Given the description of an element on the screen output the (x, y) to click on. 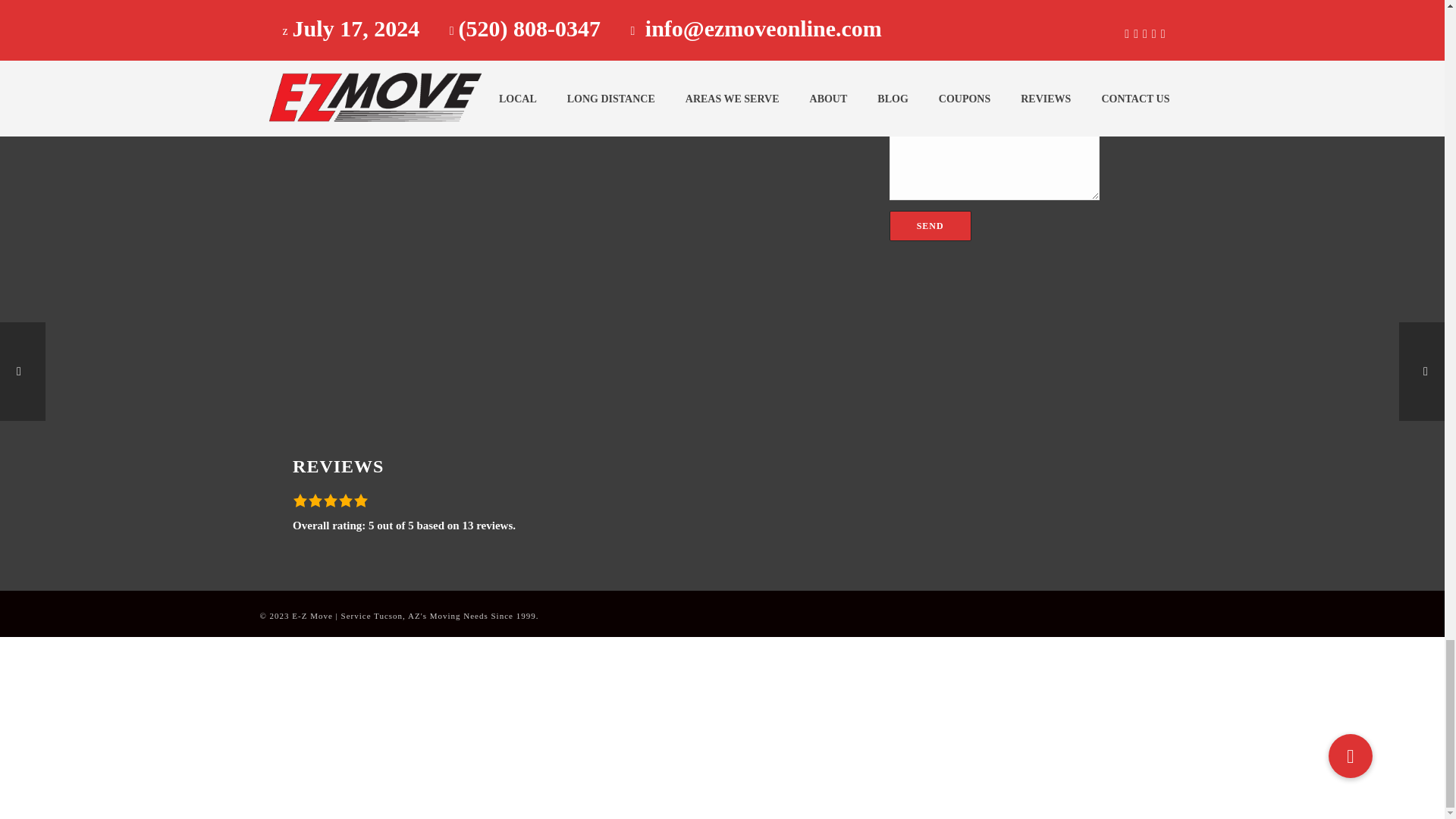
EZMove Google Map Location (405, 152)
Send (930, 225)
